Given the description of an element on the screen output the (x, y) to click on. 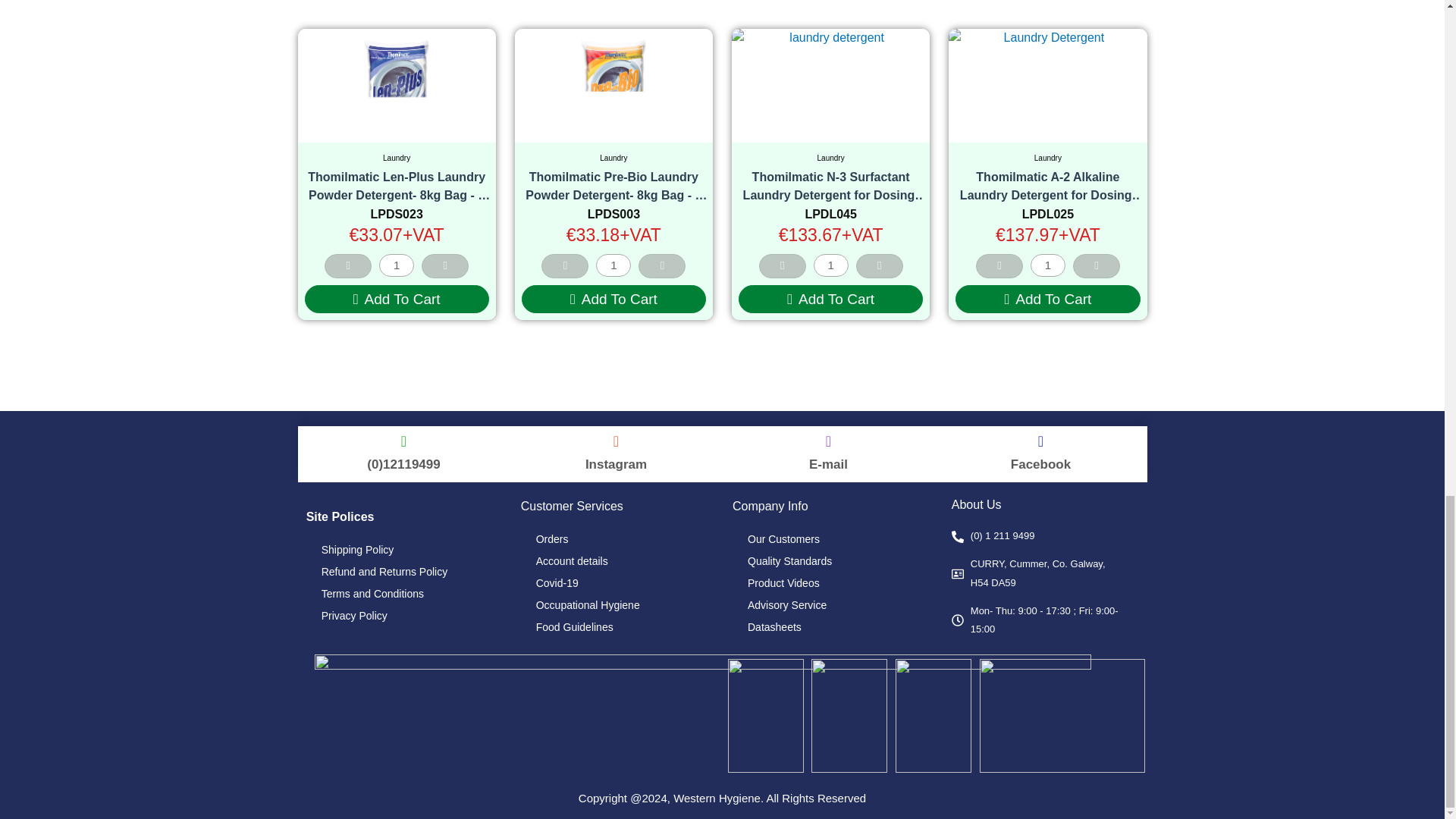
1 (830, 264)
1 (395, 264)
1 (1047, 264)
1 (612, 264)
